Given the description of an element on the screen output the (x, y) to click on. 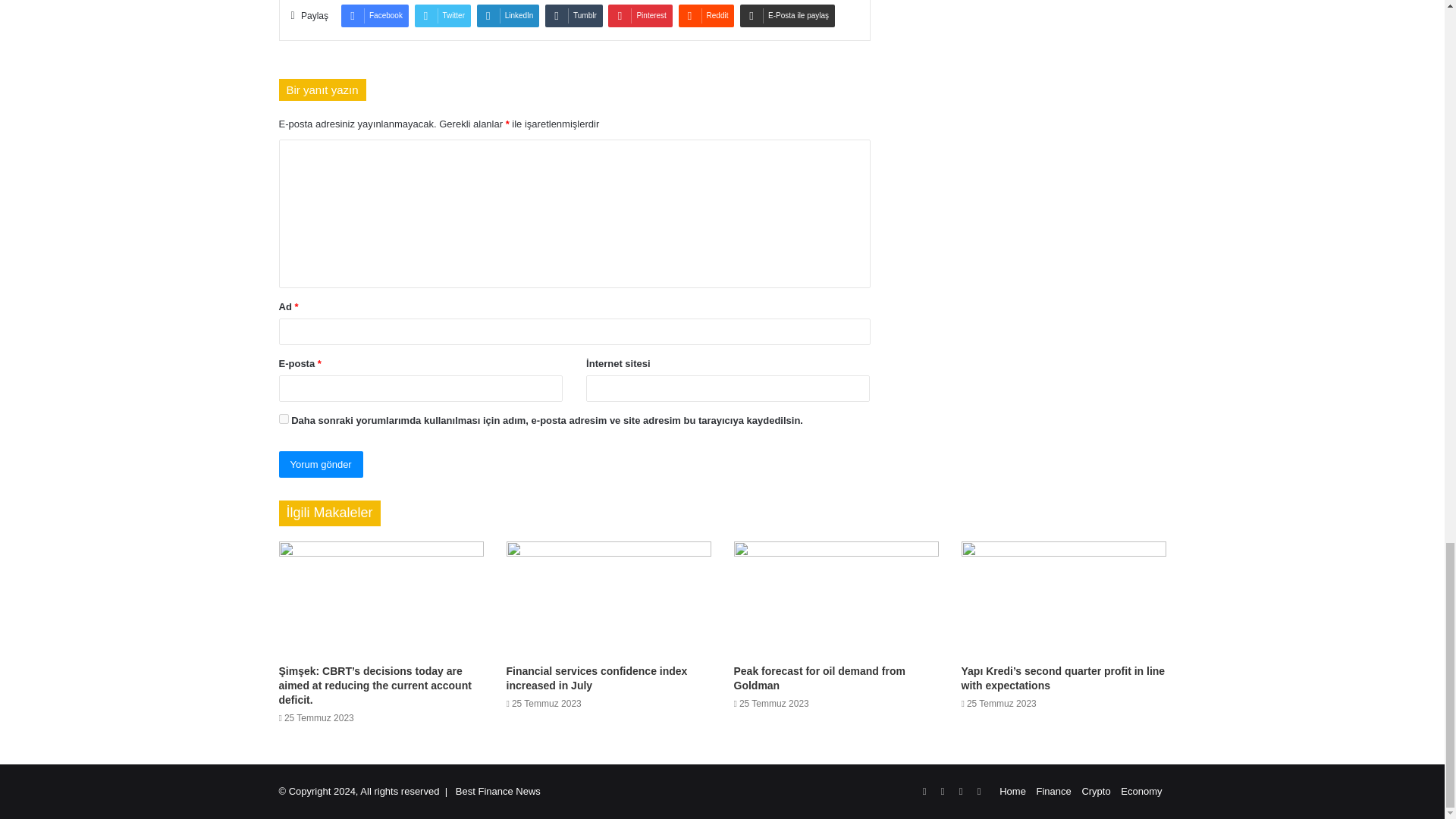
Tumblr (573, 15)
LinkedIn (508, 15)
Pinterest (639, 15)
Twitter (442, 15)
Twitter (442, 15)
Pinterest (639, 15)
LinkedIn (508, 15)
Reddit (706, 15)
Facebook (374, 15)
Facebook (374, 15)
Reddit (706, 15)
yes (283, 419)
Tumblr (573, 15)
